Given the description of an element on the screen output the (x, y) to click on. 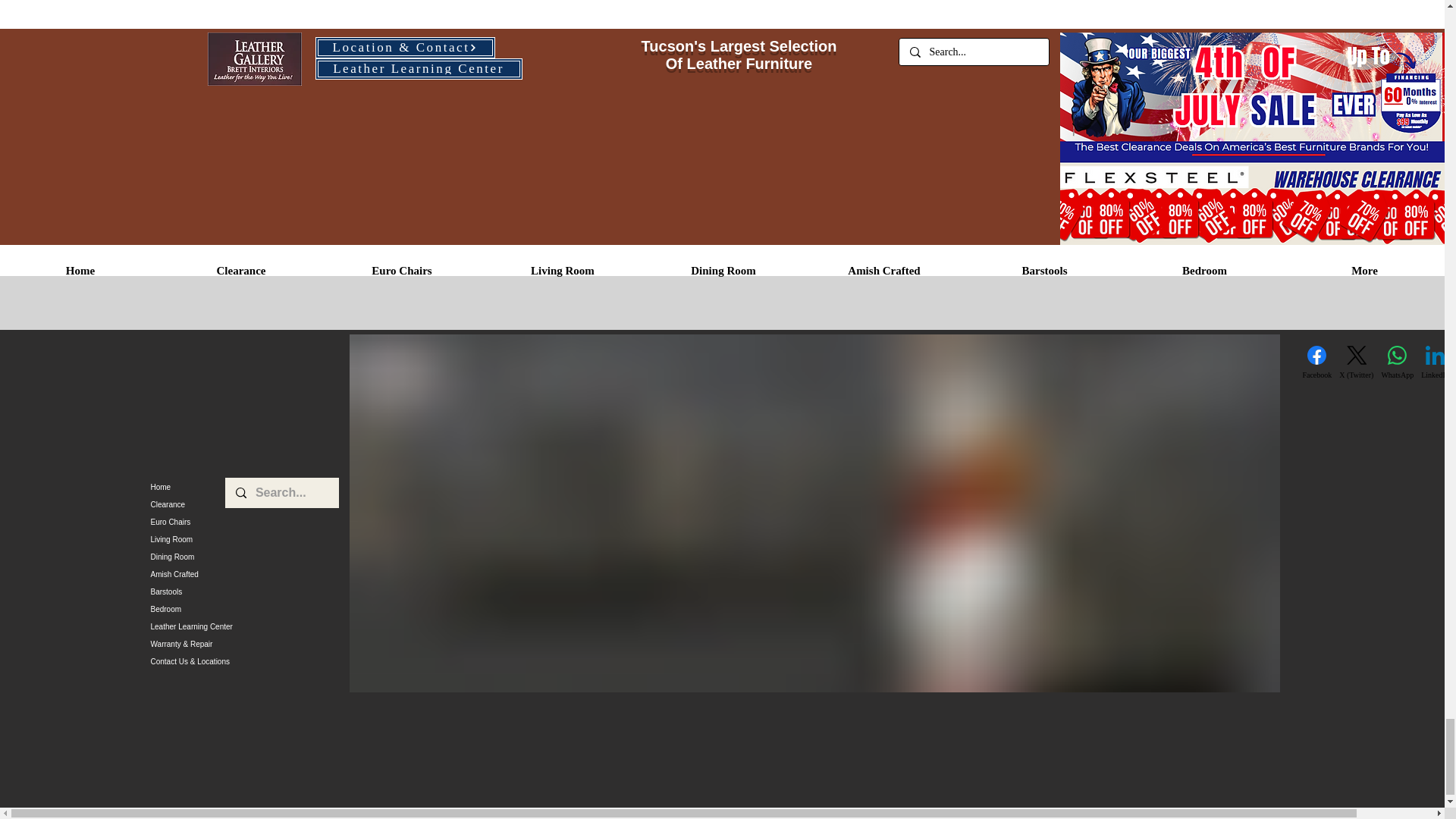
Leather Learning Center (243, 626)
Clearance (243, 504)
Euro Chairs (243, 521)
Bedroom (243, 609)
Facebook (1316, 362)
Home (243, 487)
Dining Room (243, 556)
Barstools (243, 591)
Google Maps (208, 405)
Amish Crafted (243, 574)
